Given the description of an element on the screen output the (x, y) to click on. 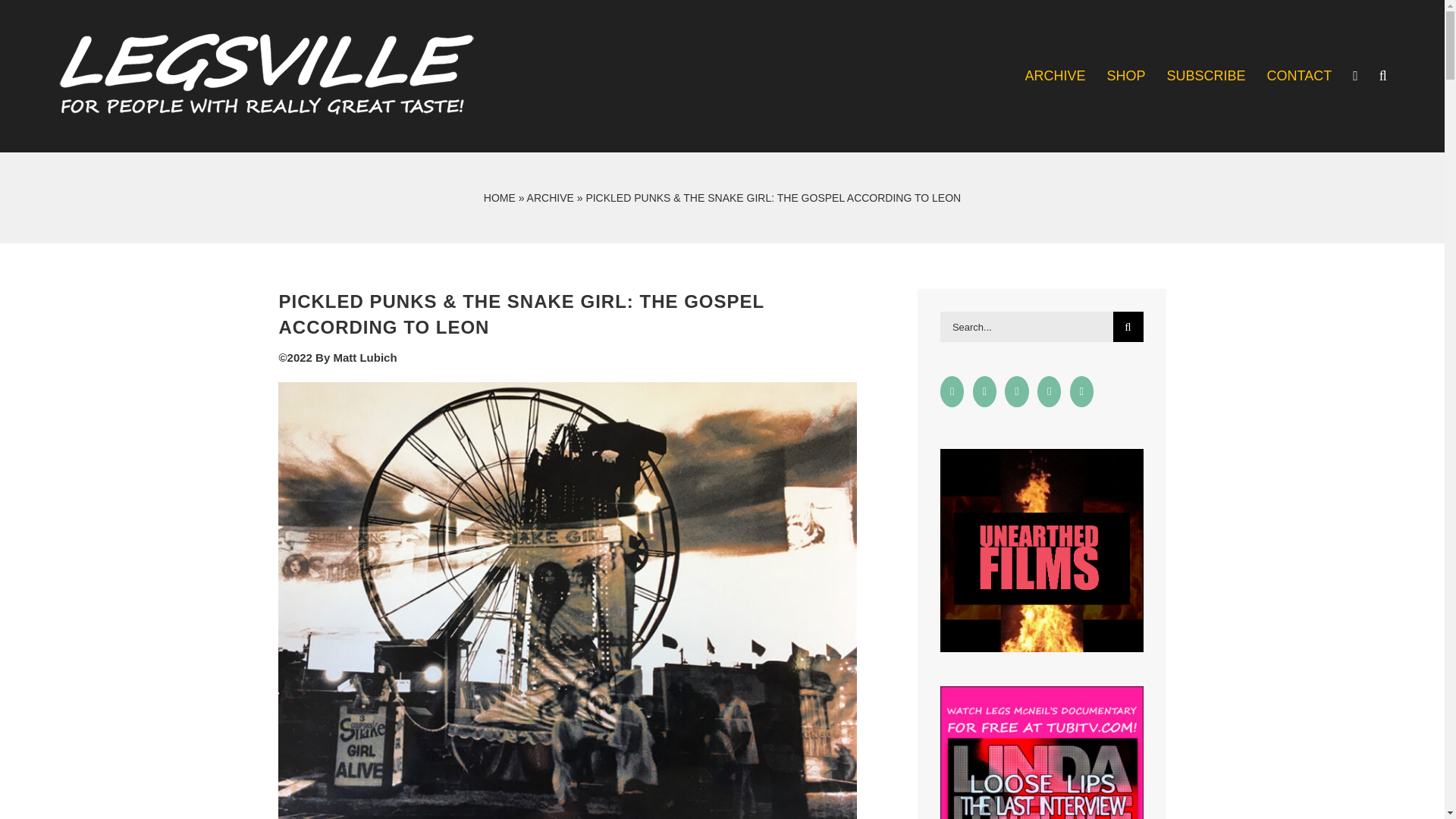
HOME (499, 196)
Matt Lubich (364, 357)
ARCHIVE (550, 196)
